Given the description of an element on the screen output the (x, y) to click on. 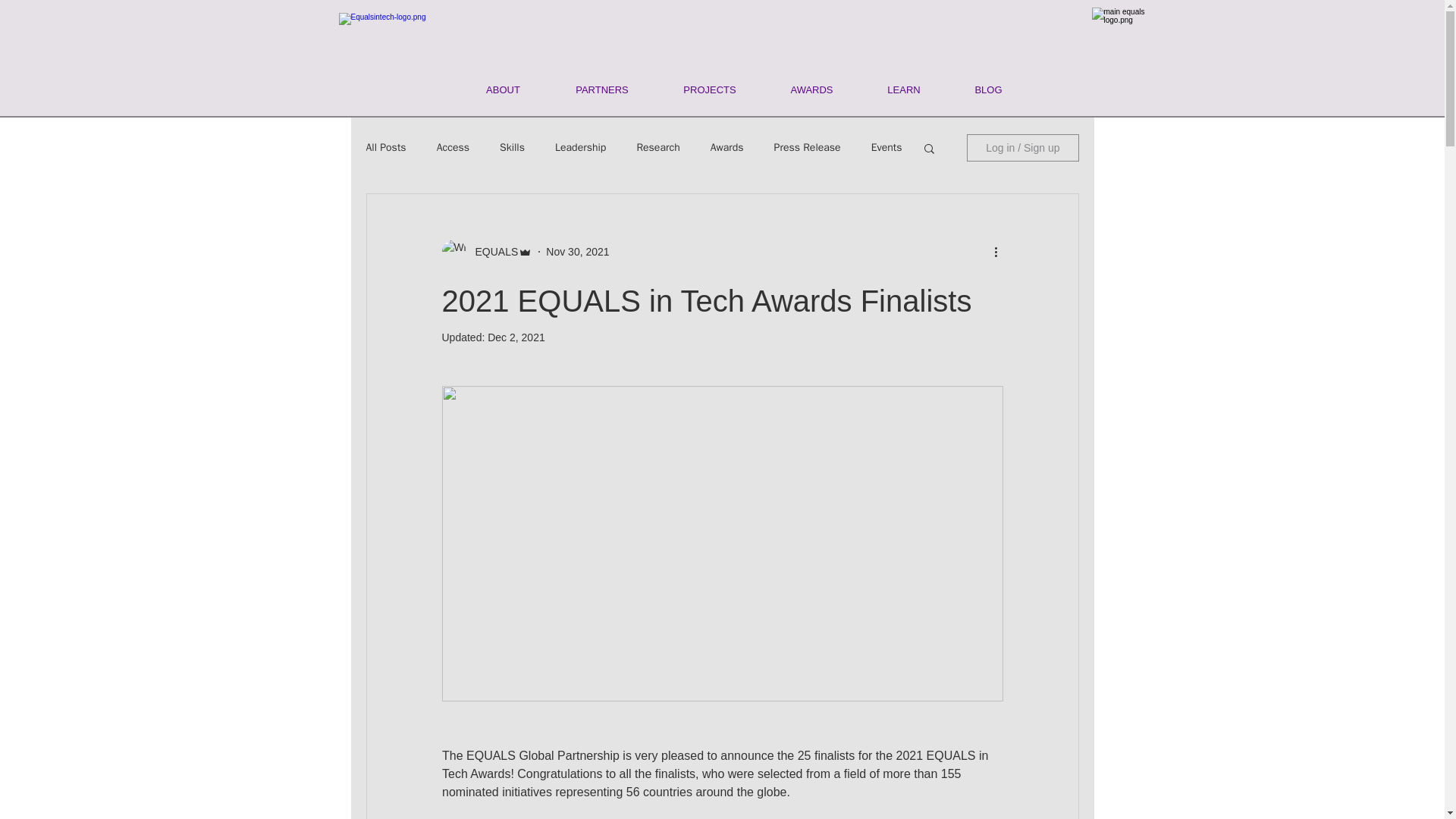
Skills (511, 147)
AWARDS (811, 89)
Awards (727, 147)
Leadership (579, 147)
Research (657, 147)
PARTNERS (601, 89)
EQUALS (491, 252)
Access (452, 147)
PROJECTS (709, 89)
Nov 30, 2021 (577, 251)
